Given the description of an element on the screen output the (x, y) to click on. 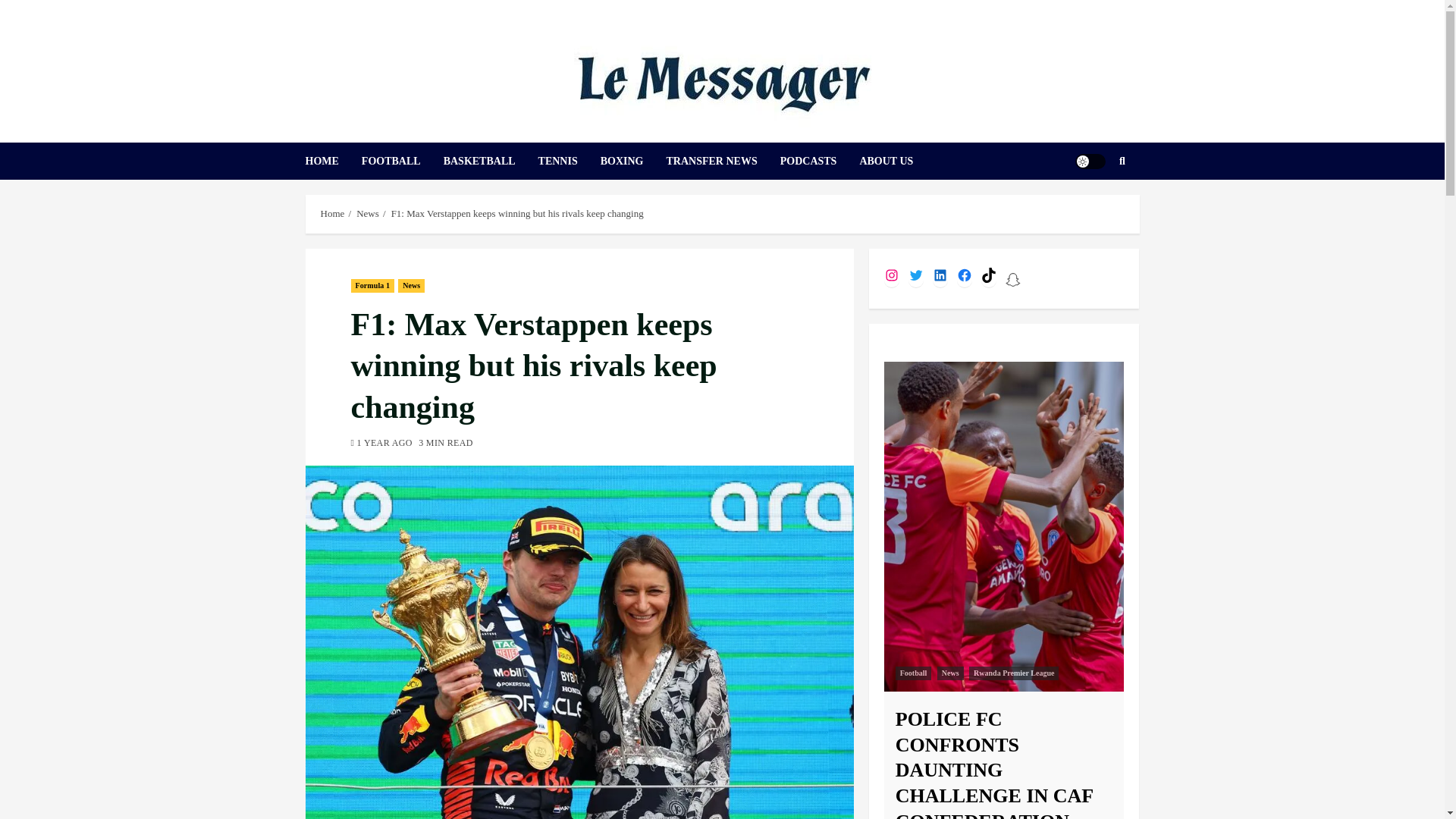
LinkedIn (940, 275)
TikTok (988, 275)
News (411, 285)
ABOUT US (897, 160)
TRANSFER NEWS (723, 160)
TENNIS (568, 160)
Search (1092, 206)
Facebook (964, 275)
News (367, 214)
HOME (332, 160)
FOOTBALL (402, 160)
Instagram (891, 275)
Formula 1 (372, 285)
BOXING (632, 160)
BASKETBALL (491, 160)
